Given the description of an element on the screen output the (x, y) to click on. 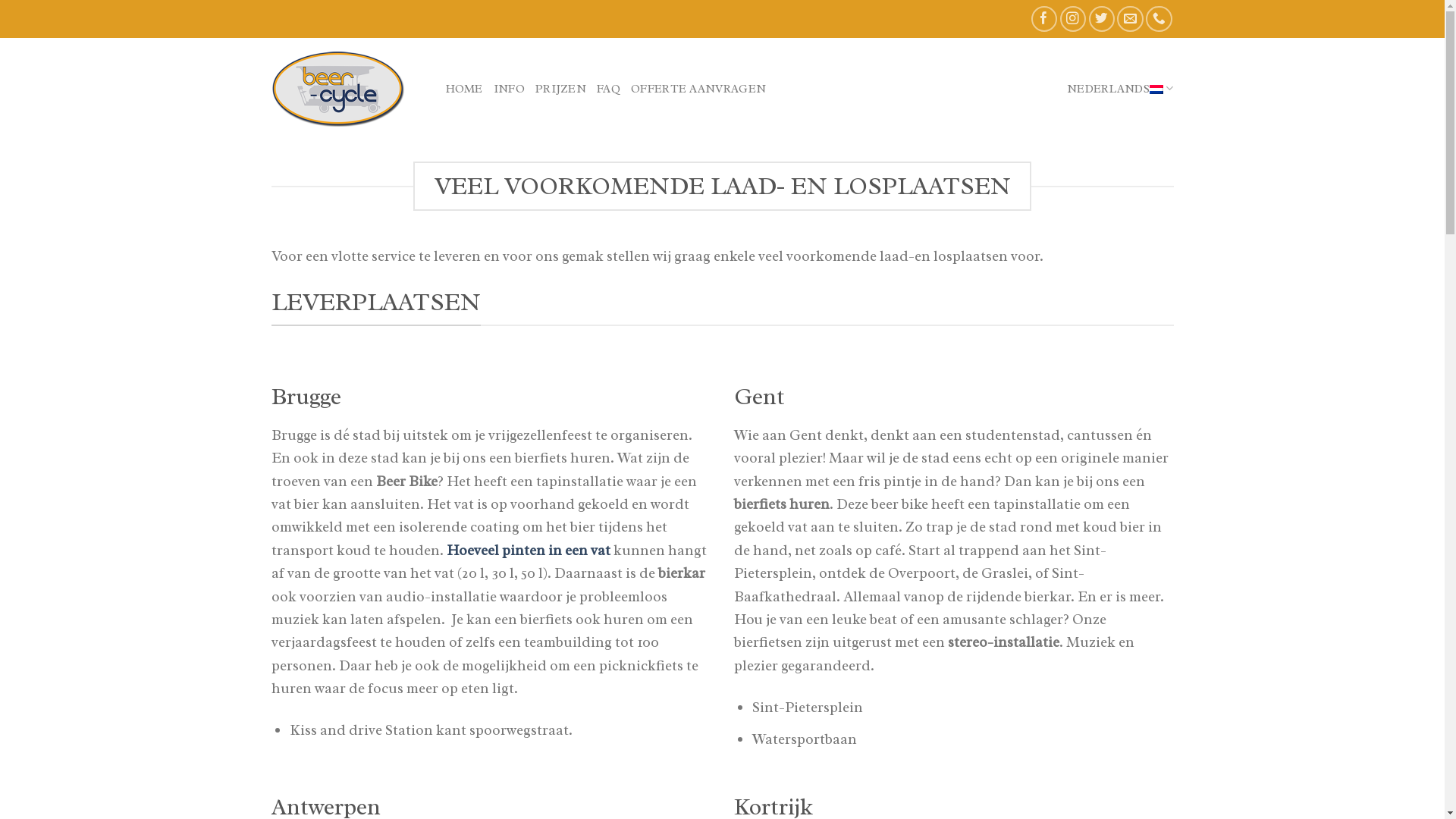
INFO Element type: text (508, 87)
FAQ Element type: text (608, 87)
Volg ons op Facebook Element type: hover (1044, 19)
OFFERTE AANVRAGEN Element type: text (697, 87)
NEDERLANDS Element type: text (1119, 88)
Bel ons Element type: hover (1158, 19)
Beer-cycle - Verhuur van bierfietsen Element type: hover (347, 87)
HOME Element type: text (464, 87)
Volg ons op Instagram Element type: hover (1073, 19)
PRIJZEN Element type: text (560, 87)
Hoeveel pinten in een vat Element type: text (527, 550)
Volg ons op Twitter Element type: hover (1101, 19)
Stuur ons een e-mail Element type: hover (1130, 19)
